Given the description of an element on the screen output the (x, y) to click on. 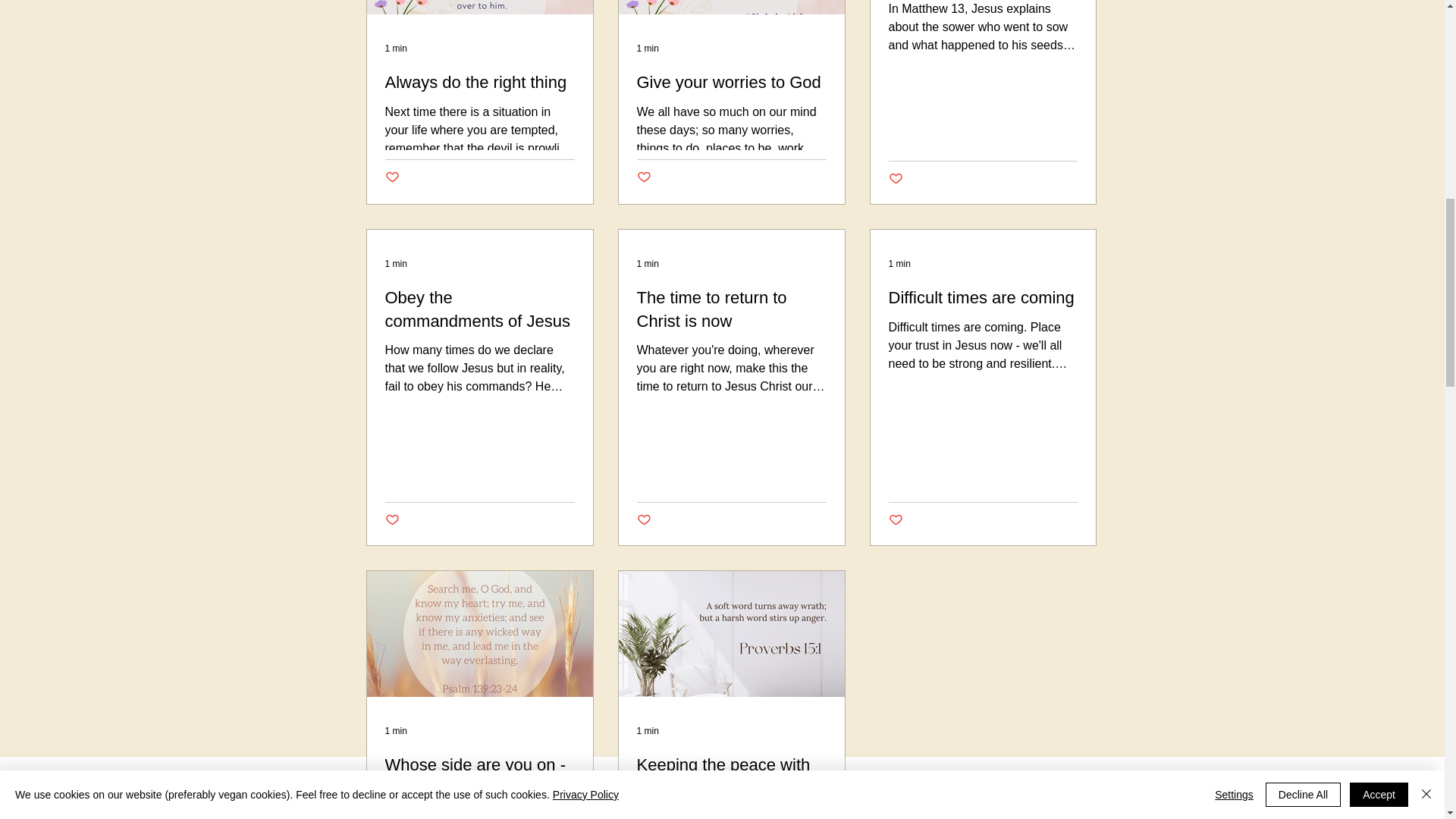
Post not marked as liked (895, 520)
Post not marked as liked (391, 520)
Post not marked as liked (643, 177)
Keeping the peace with words - thinking before you speak (732, 786)
1 min (396, 263)
Post not marked as liked (895, 179)
Post not marked as liked (391, 177)
Obey the commandments of Jesus (480, 309)
Always do the right thing (480, 83)
